Given the description of an element on the screen output the (x, y) to click on. 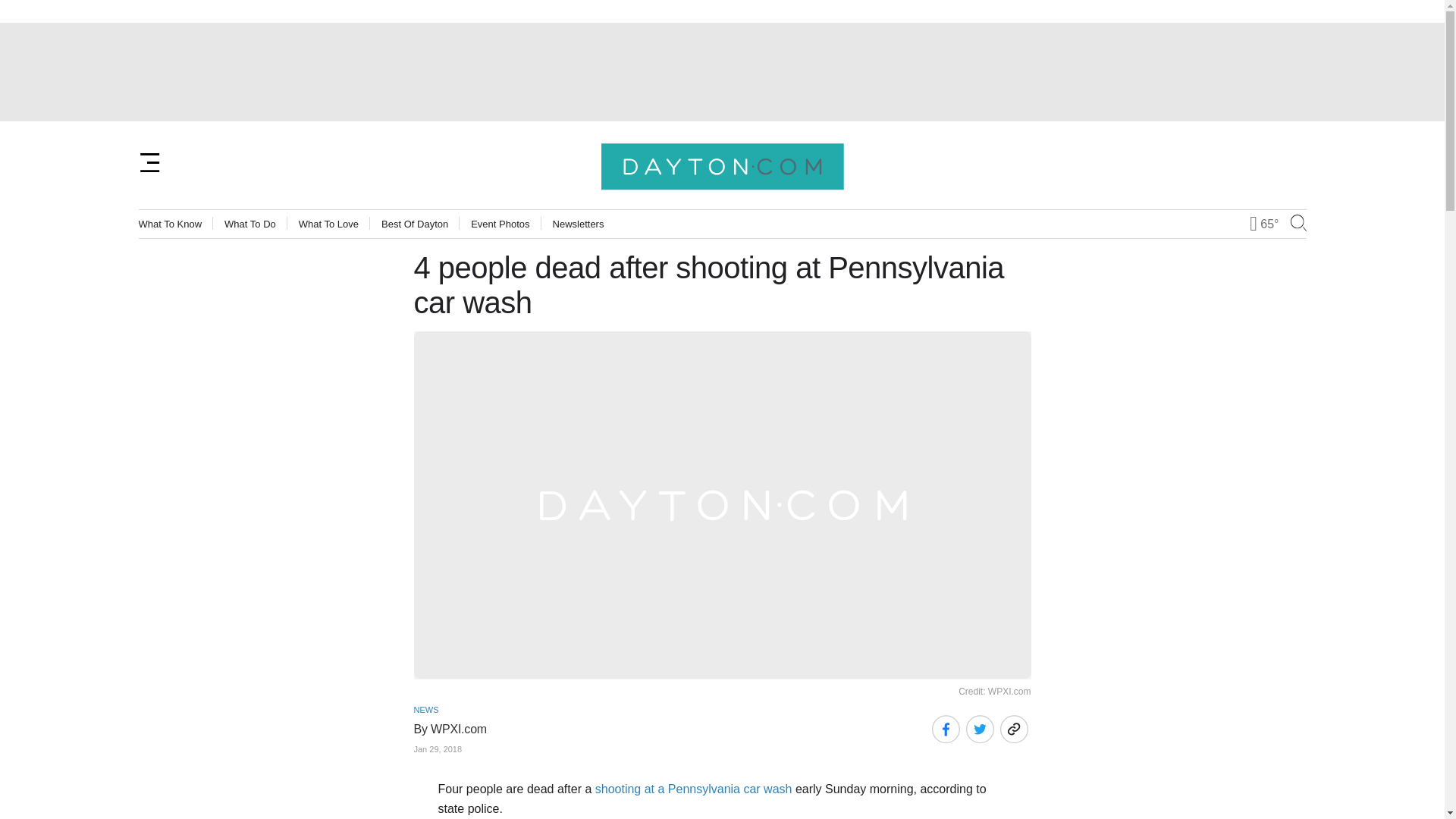
Best Of Dayton (414, 224)
What To Love (328, 224)
What To Do (250, 224)
What To Know (170, 224)
Event Photos (499, 224)
Newsletters (578, 224)
